Given the description of an element on the screen output the (x, y) to click on. 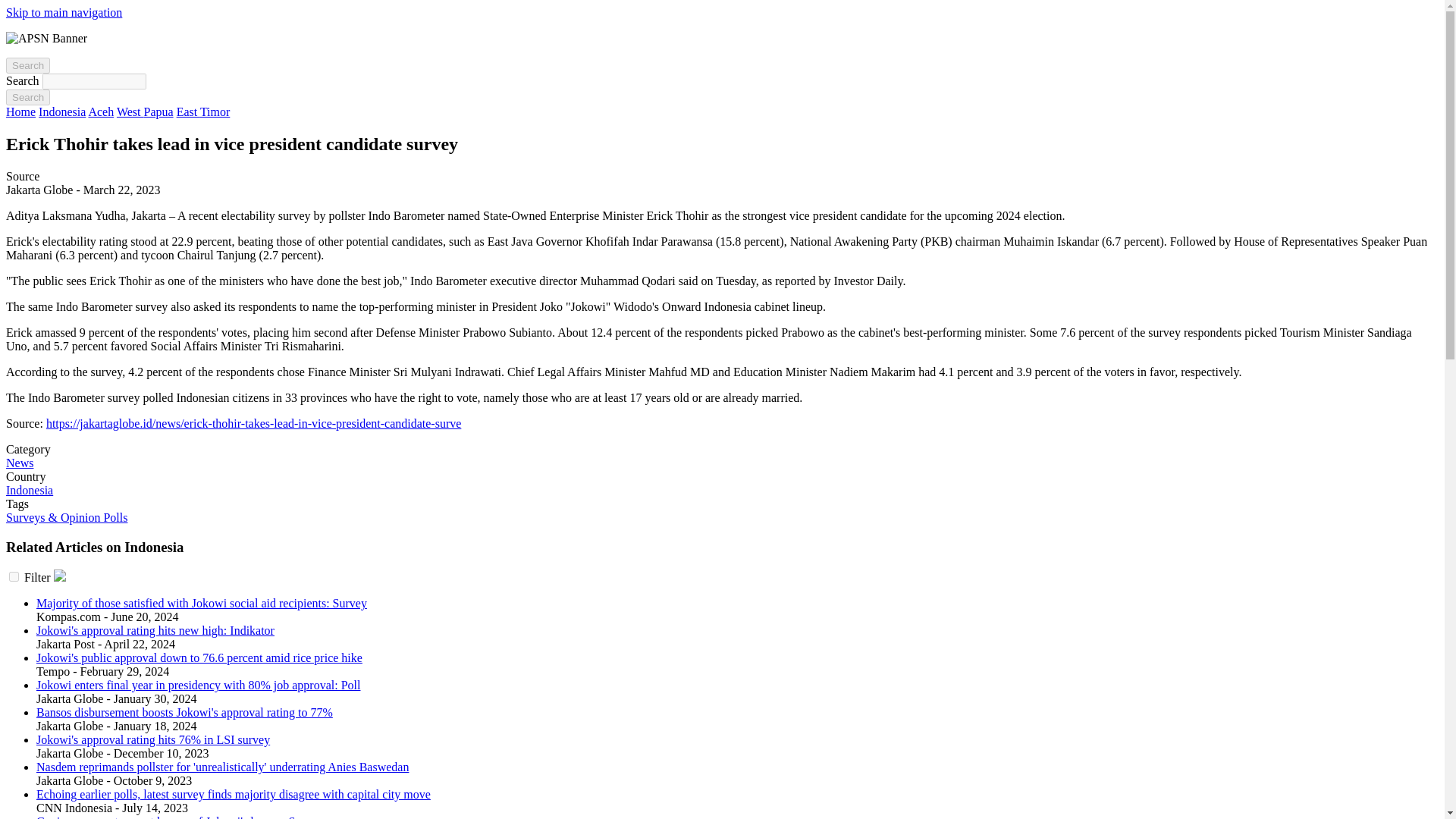
West Papua (144, 111)
Search (27, 65)
Enter the terms you wish to search for. (94, 81)
East Timor (203, 111)
Aceh (100, 111)
Search (27, 97)
Search (27, 97)
Indonesia (28, 490)
News (19, 462)
Home (19, 111)
Indonesia (62, 111)
Ganjar seen as strongest keeper of Jokowi's legacy: Survey (179, 816)
Jokowi's approval rating hits new high: Indikator (155, 630)
